Given the description of an element on the screen output the (x, y) to click on. 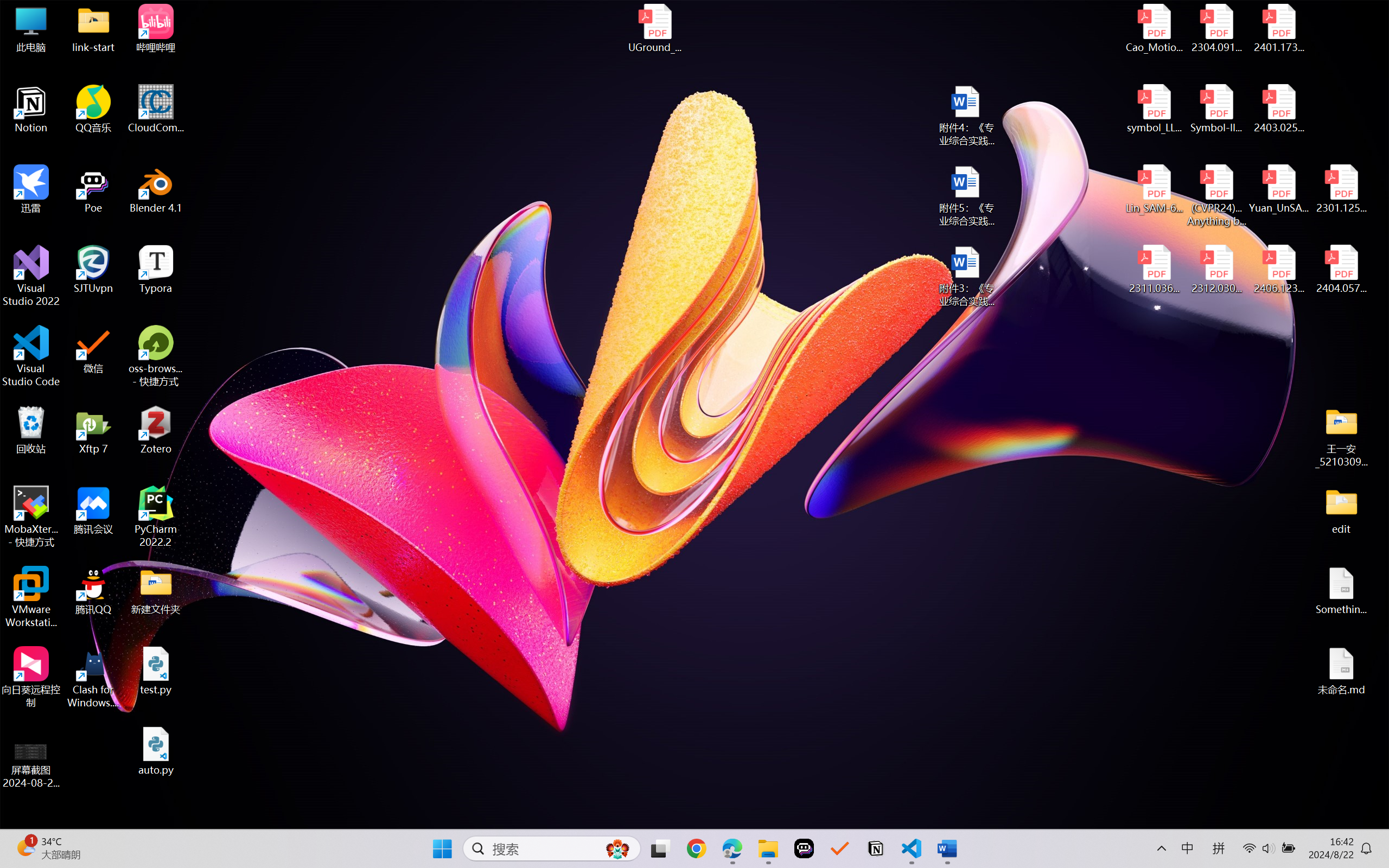
CloudCompare (156, 109)
Visual Studio 2022 (31, 276)
PyCharm 2022.2 (156, 516)
(CVPR24)Matching Anything by Segmenting Anything.pdf (1216, 195)
test.py (156, 670)
